Given the description of an element on the screen output the (x, y) to click on. 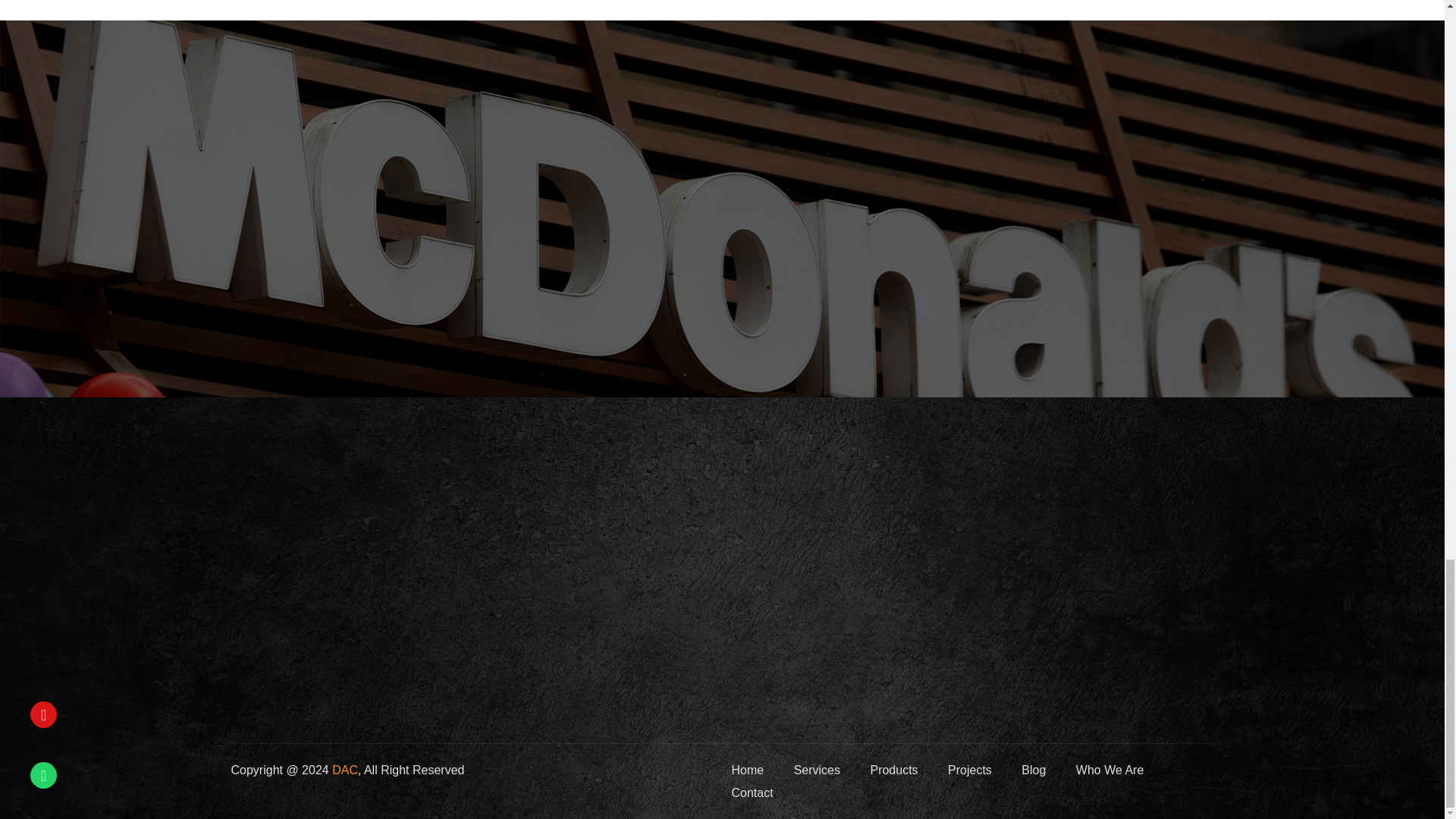
Home (746, 770)
